Given the description of an element on the screen output the (x, y) to click on. 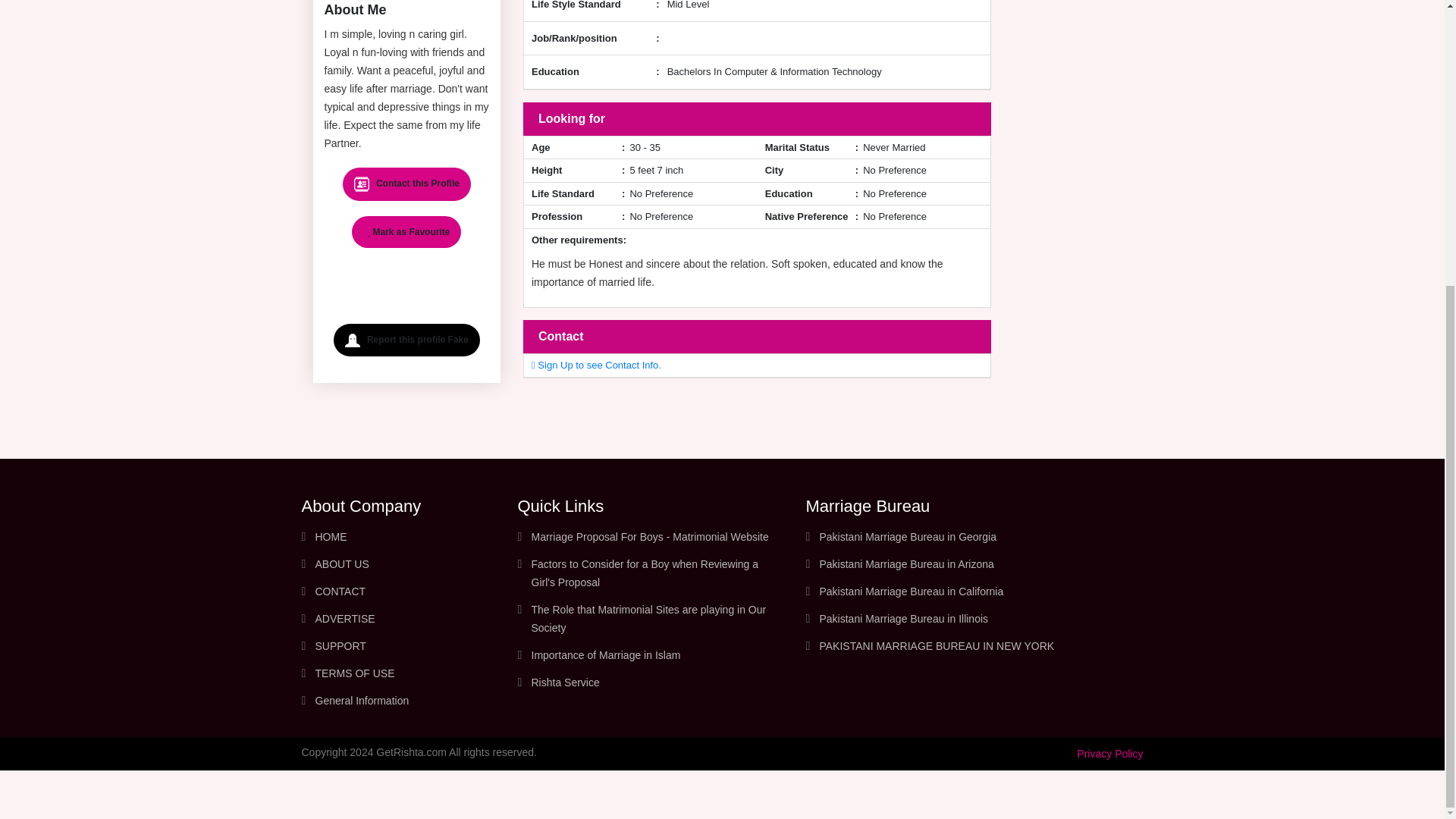
TERMS OF USE (354, 673)
ADVERTISE (345, 618)
Importance of Marriage in Islam (605, 654)
Pakistani Marriage Bureau in Arizona (905, 563)
Marriage Proposal For Boys - Matrimonial Website (649, 536)
ABOUT US (342, 563)
Report this profile Fake (406, 339)
Marriage Proposal For Boys - Matrimonial Website (649, 536)
Pakistani Marriage Bureau in California (910, 591)
PAKISTANI MARRIAGE BUREAU IN NEW YORK (936, 645)
